Given the description of an element on the screen output the (x, y) to click on. 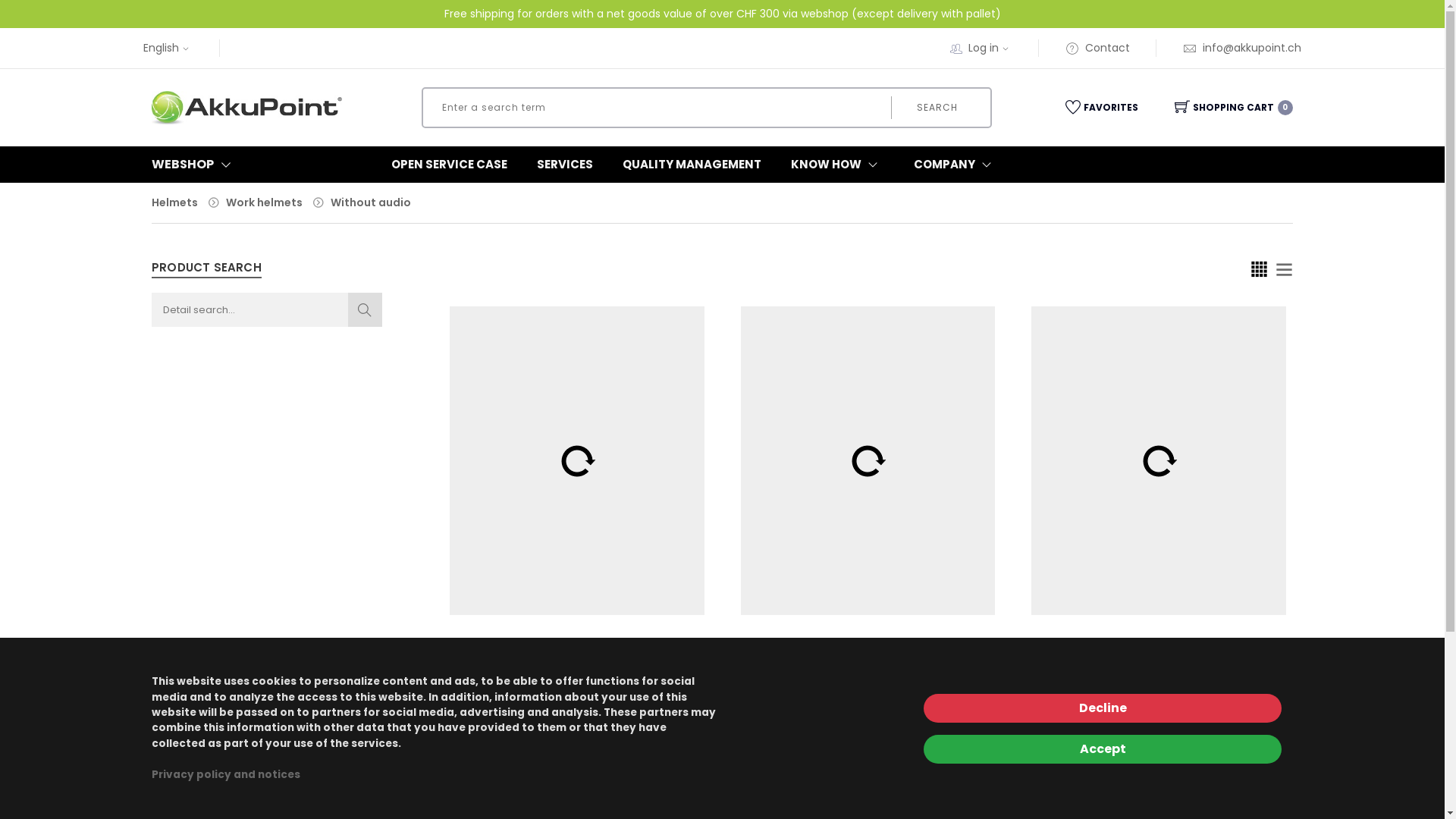
Work helmets Element type: text (263, 202)
Accept Element type: text (1102, 748)
GTC Element type: text (836, 800)
OPEN SERVICE CASE Element type: text (449, 164)
FAVORITES Element type: text (1098, 107)
SHOPPING CART
0 Element type: text (1215, 107)
Login Element type: text (1018, 352)
info@akkupoint.ch Element type: text (1242, 47)
Decline Element type: text (1102, 707)
QUALITY MANAGEMENT Element type: text (691, 164)
Helmets Element type: text (174, 202)
SEARCH Element type: text (936, 107)
Privacy policy and notices Element type: text (225, 774)
Without audio Element type: text (370, 202)
Log in Element type: text (990, 47)
SERVICES Element type: text (564, 164)
Log in Element type: text (608, 800)
WEBSHOP Element type: text (237, 164)
KNOW HOW Element type: text (837, 164)
Contact Element type: text (1097, 47)
COMPANY Element type: text (955, 164)
English Element type: text (167, 47)
